Given the description of an element on the screen output the (x, y) to click on. 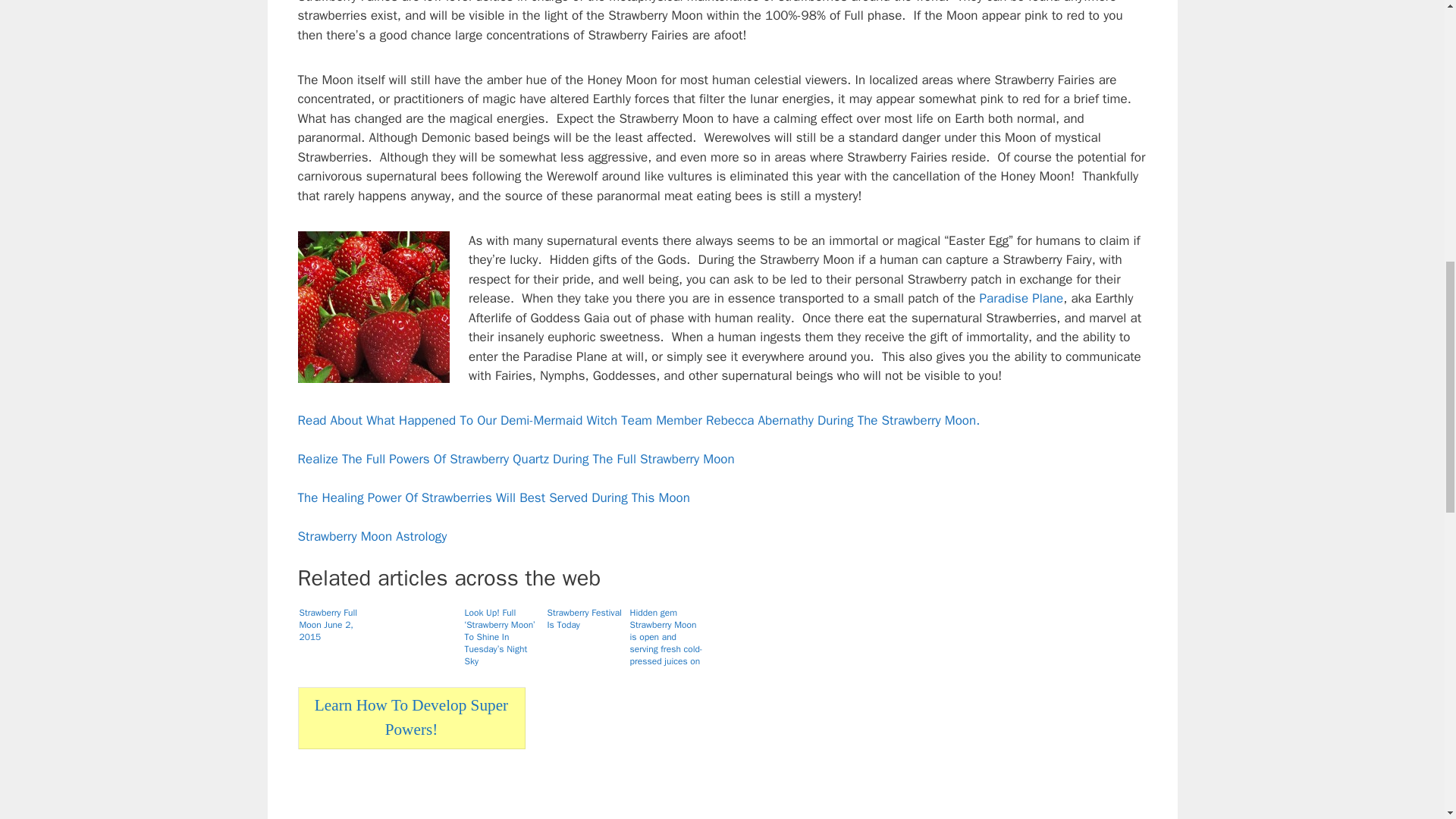
Scroll back to top (1406, 720)
Paradise Plane (1021, 298)
Strawberry Moon Astrology (371, 536)
